Given the description of an element on the screen output the (x, y) to click on. 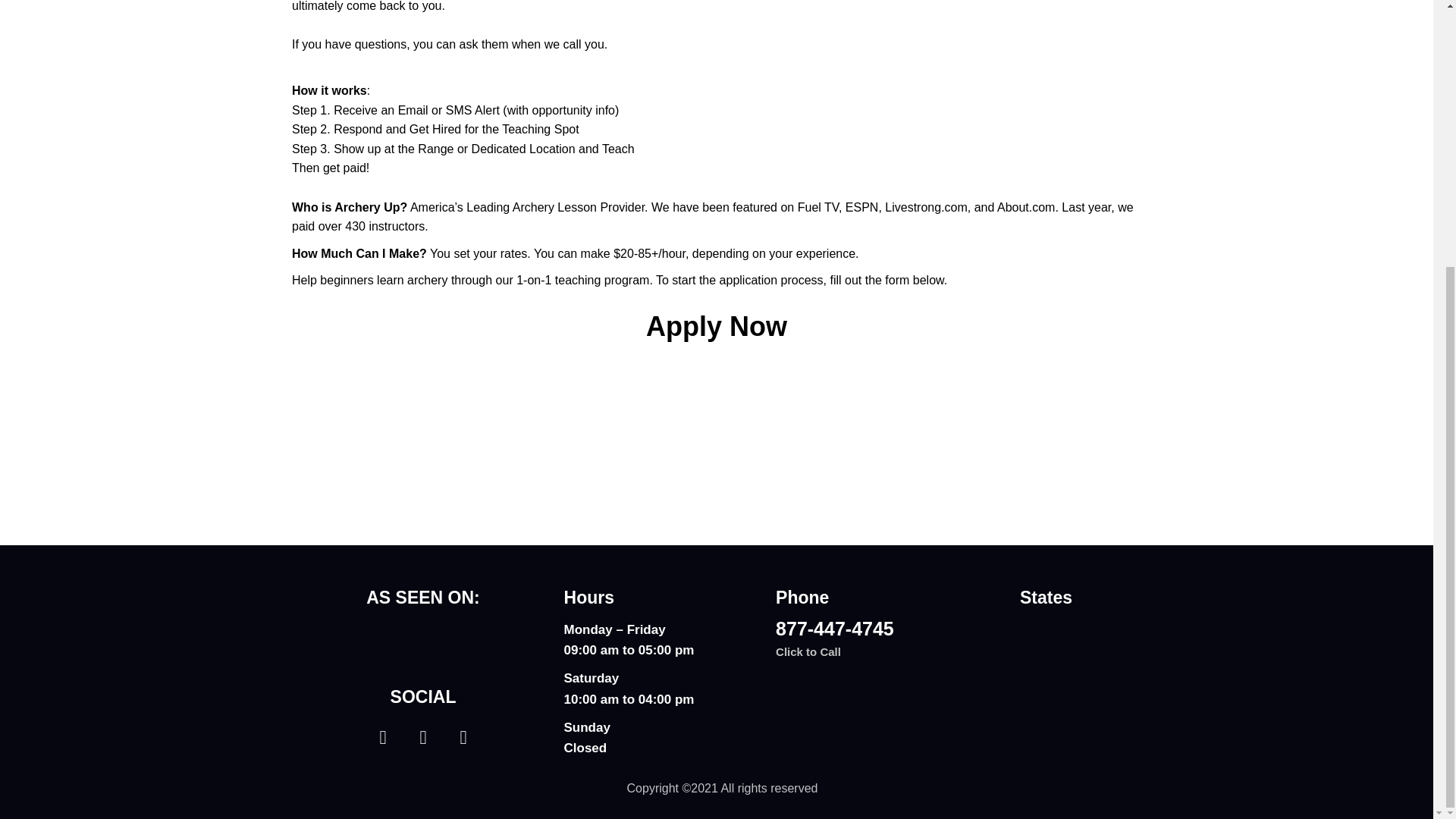
877-447-4745 (834, 628)
Click to Call (808, 651)
